Given the description of an element on the screen output the (x, y) to click on. 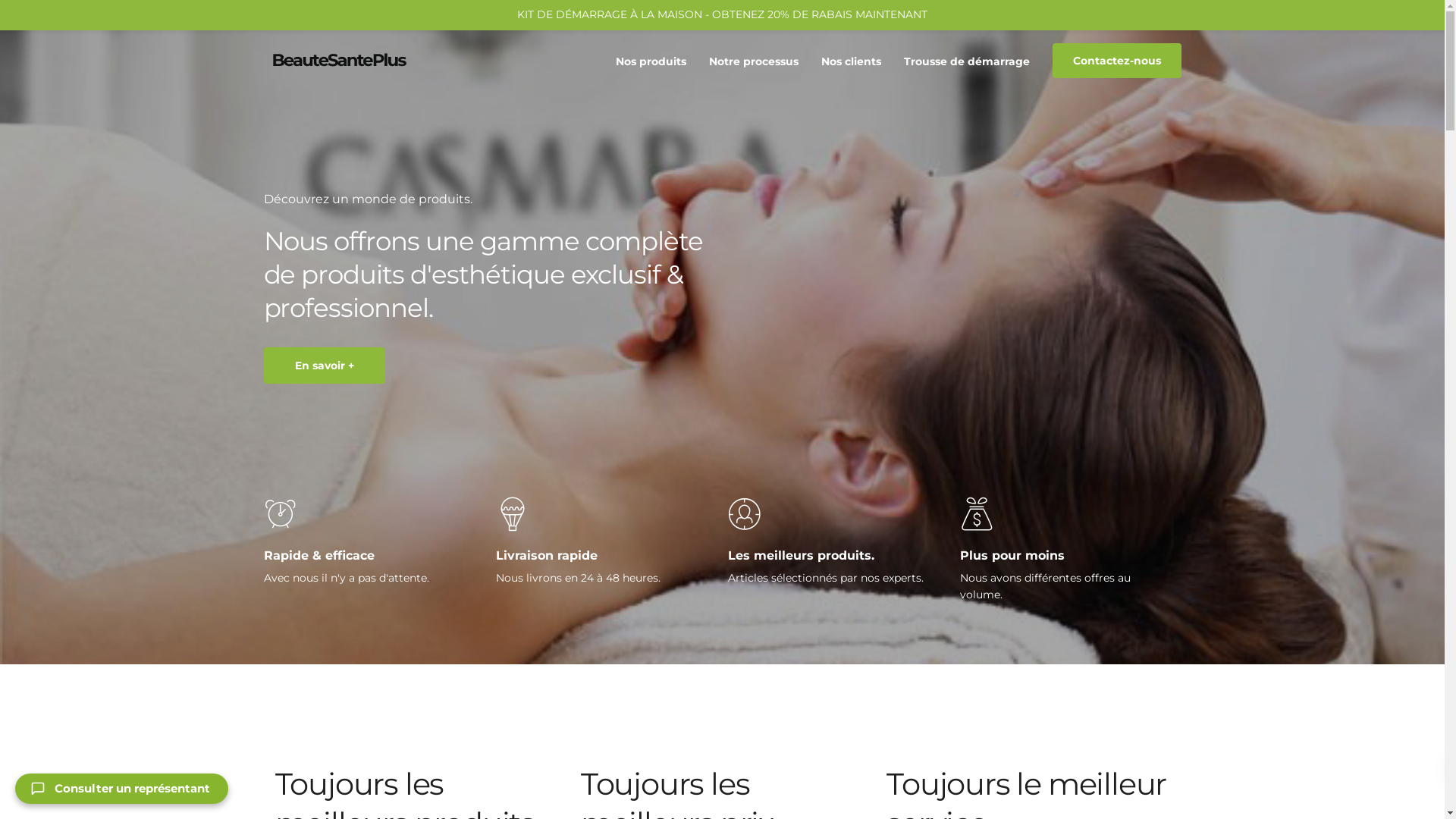
Notre processus Element type: text (753, 60)
info@beautesanteplus.ca Element type: text (414, 16)
Contactez-nous Element type: text (1116, 60)
+1 (514) 602-7369 Element type: text (305, 16)
En savoir + Element type: text (324, 365)
Nos produits Element type: text (649, 60)
Nos clients Element type: text (850, 60)
